Given the description of an element on the screen output the (x, y) to click on. 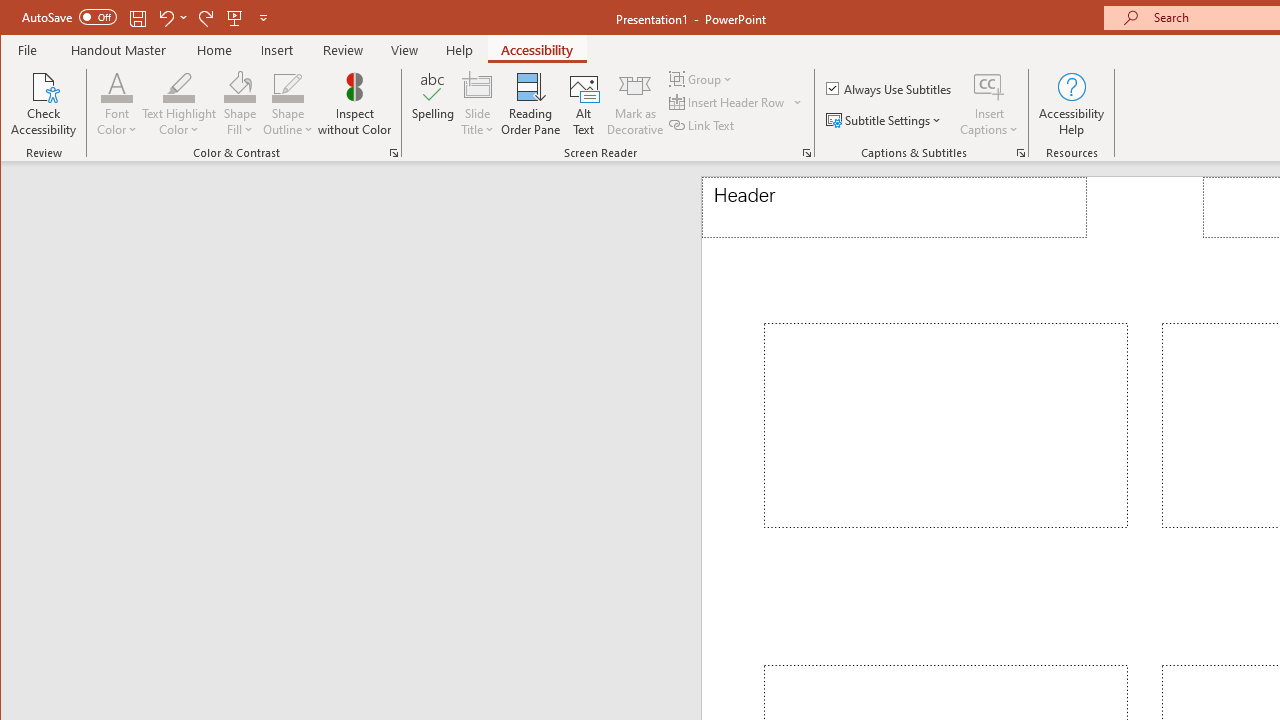
Shape Outline Blue, Accent 1 (288, 86)
Shape Fill Orange, Accent 2 (239, 86)
Check Accessibility (43, 104)
Insert Captions (989, 86)
Captions & Subtitles (1020, 152)
Header (893, 207)
Accessibility Help (1071, 104)
Shape Outline (288, 104)
Subtitle Settings (885, 119)
